Given the description of an element on the screen output the (x, y) to click on. 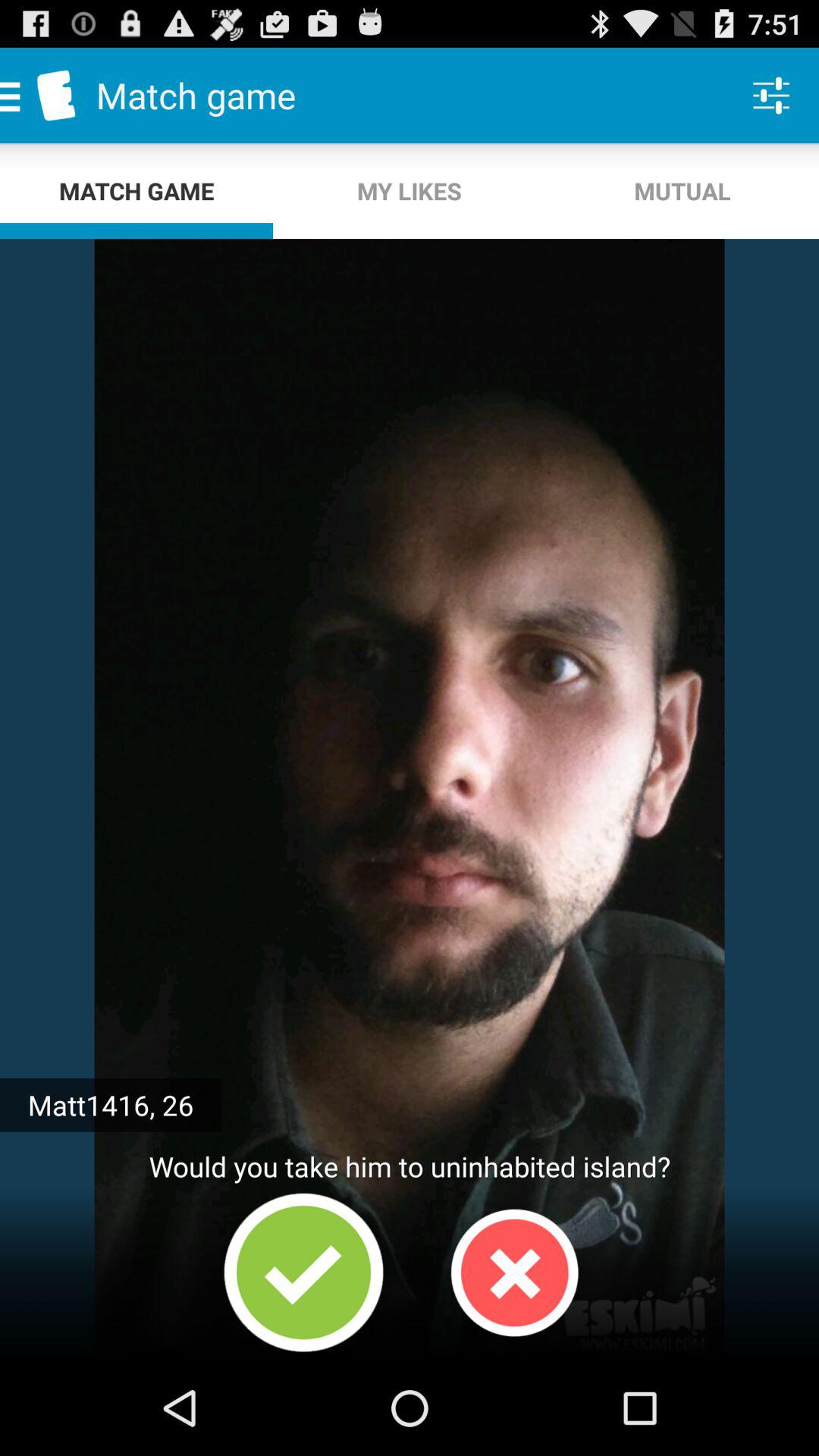
select confirm (303, 1272)
